Given the description of an element on the screen output the (x, y) to click on. 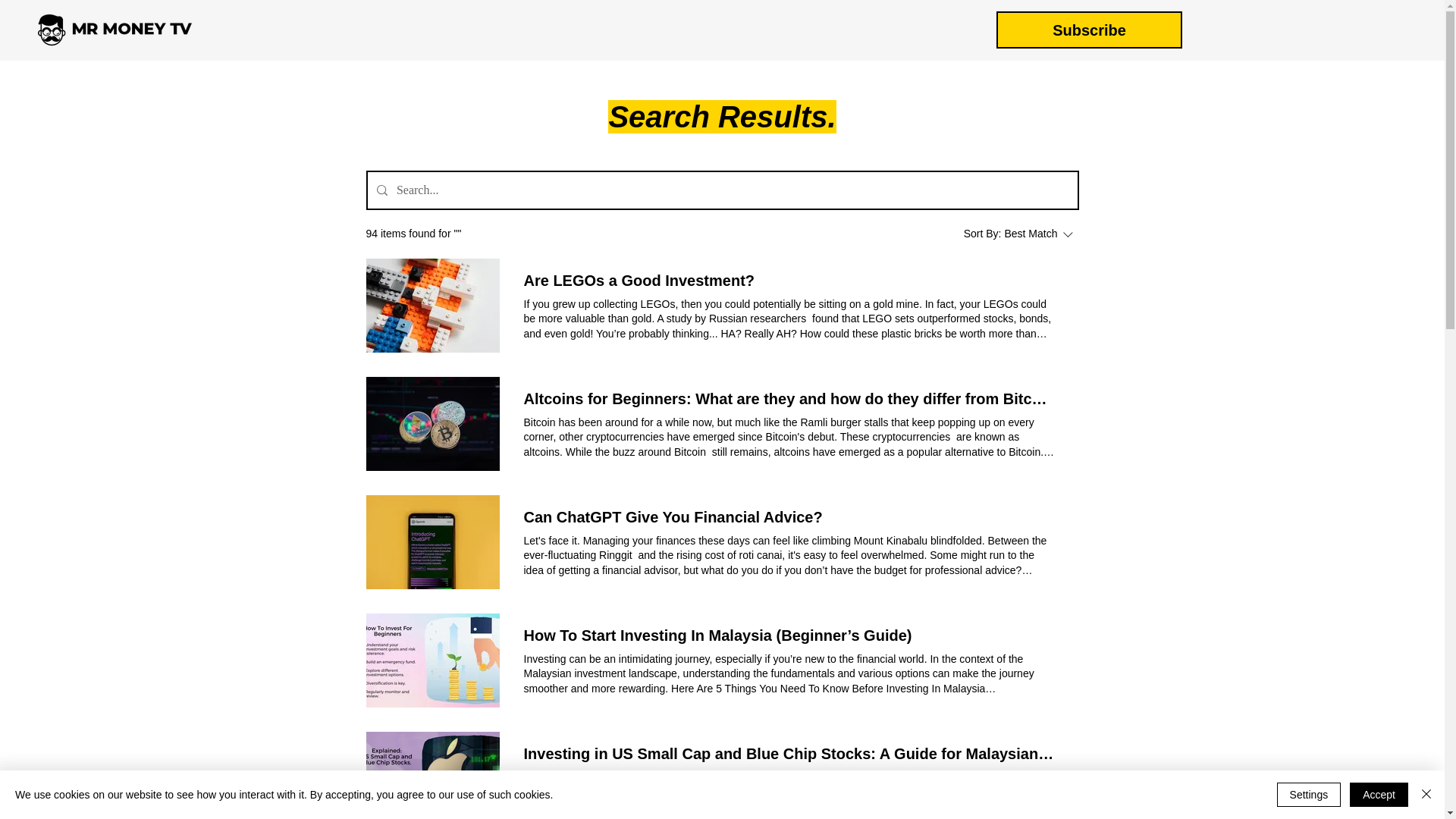
Can ChatGPT Give You Financial Advice?  (1020, 234)
Are LEGOs a Good Investment? (672, 516)
Can ChatGPT Give You Financial Advice? (432, 305)
Are LEGOs a Good Investment? (672, 516)
Subscribe (638, 280)
Are LEGOs a Good Investment? (1088, 29)
Can ChatGPT Give You Financial Advice?  (638, 280)
